Given the description of an element on the screen output the (x, y) to click on. 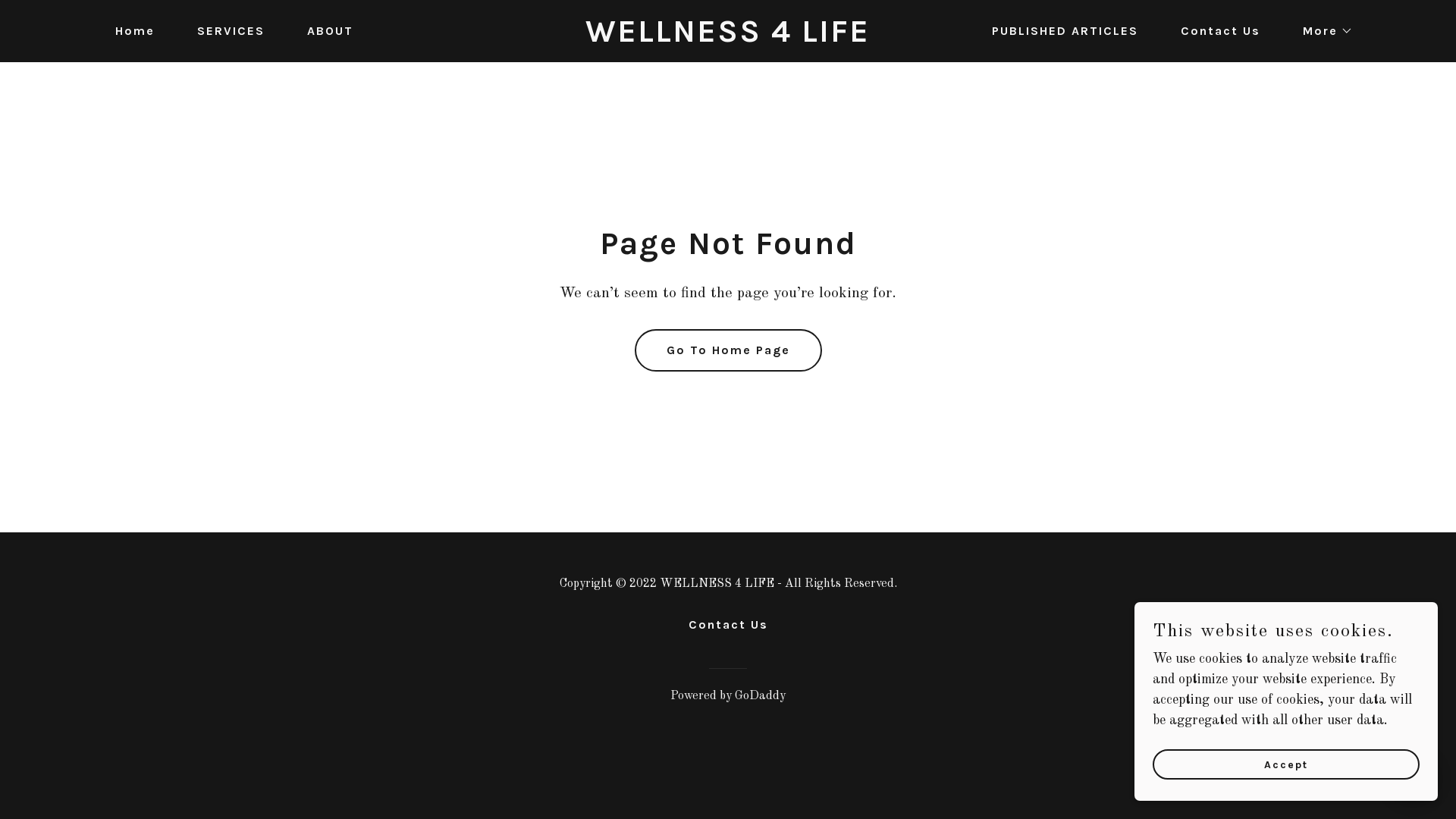
SERVICES Element type: text (224, 30)
Home Element type: text (128, 30)
GoDaddy Element type: text (759, 696)
WELLNESS 4 LIFE Element type: text (727, 37)
Go To Home Page Element type: text (727, 350)
Contact Us Element type: text (728, 624)
Accept Element type: text (1285, 764)
Contact Us Element type: text (1214, 30)
ABOUT Element type: text (323, 30)
More Element type: text (1321, 30)
PUBLISHED ARTICLES Element type: text (1058, 30)
